Given the description of an element on the screen output the (x, y) to click on. 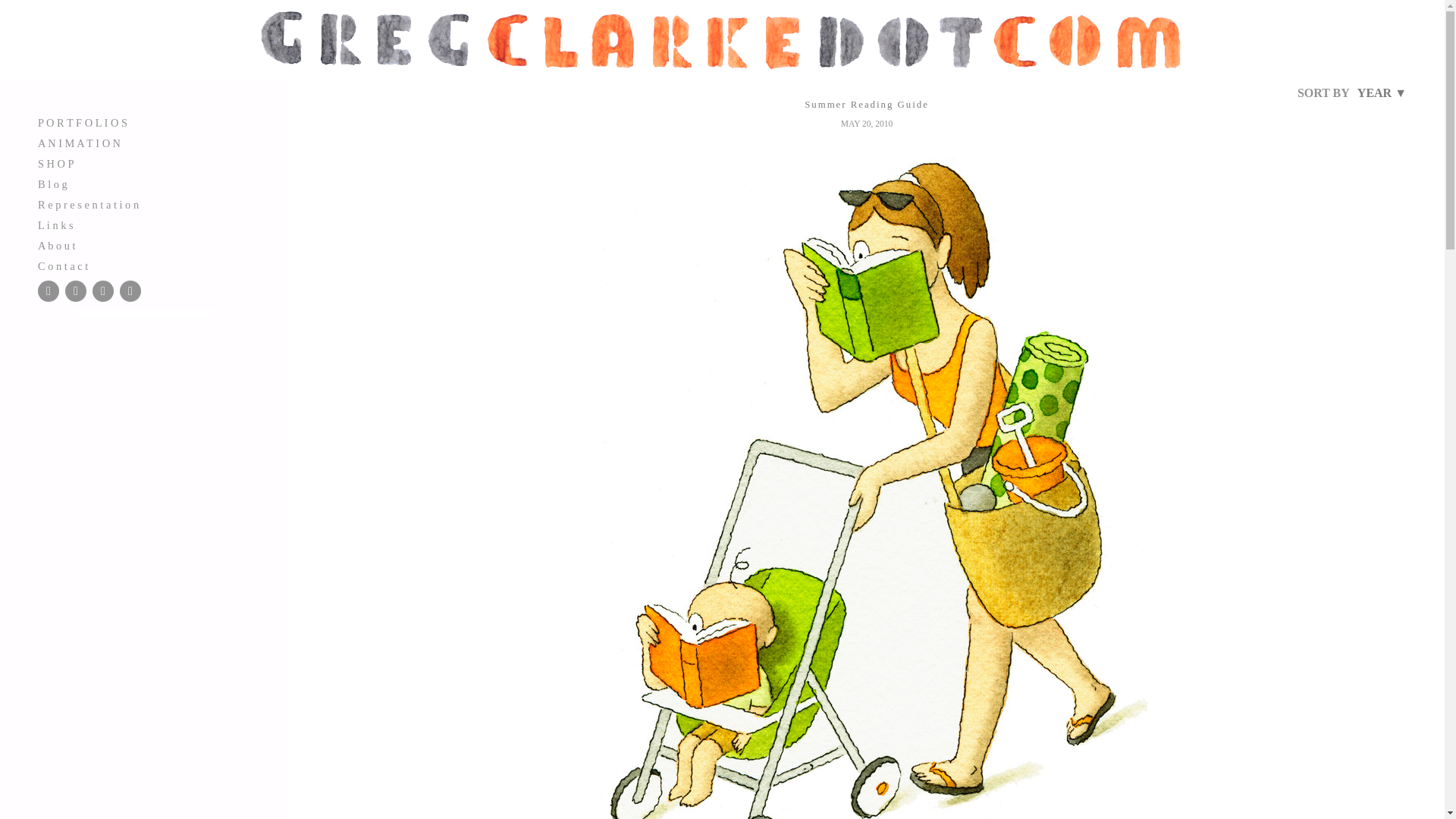
B l o g (143, 184)
P O R T F O L I O S (143, 123)
C o n t a c t (143, 266)
R e p r e s e n t a t i o n (143, 205)
A N I M A T I O N (143, 143)
A b o u t (143, 245)
L i n k s (143, 225)
S H O P (143, 164)
